Given the description of an element on the screen output the (x, y) to click on. 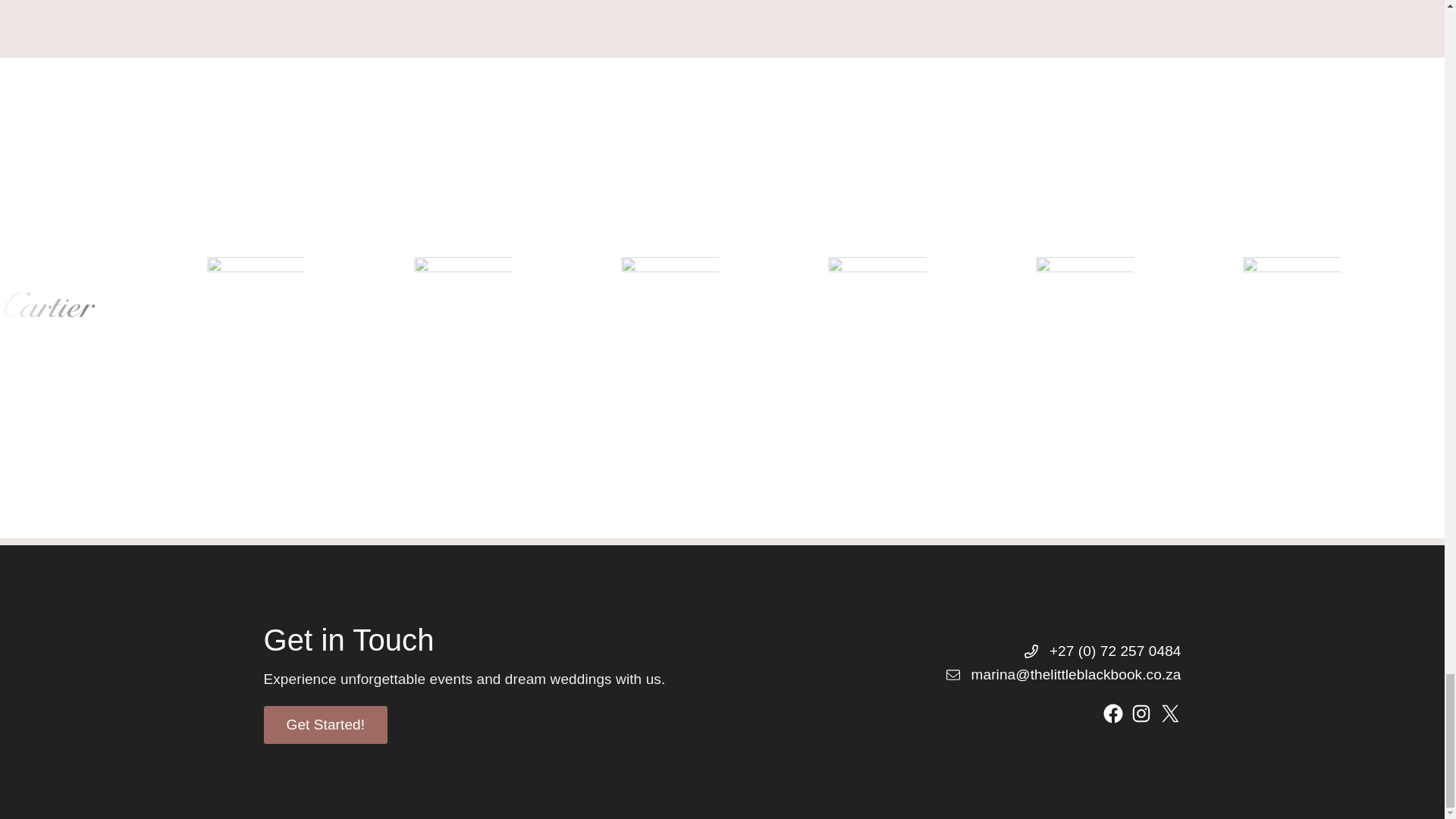
X (1169, 712)
Instagram (1141, 712)
Facebook (1113, 712)
Get Started! (325, 724)
